Given the description of an element on the screen output the (x, y) to click on. 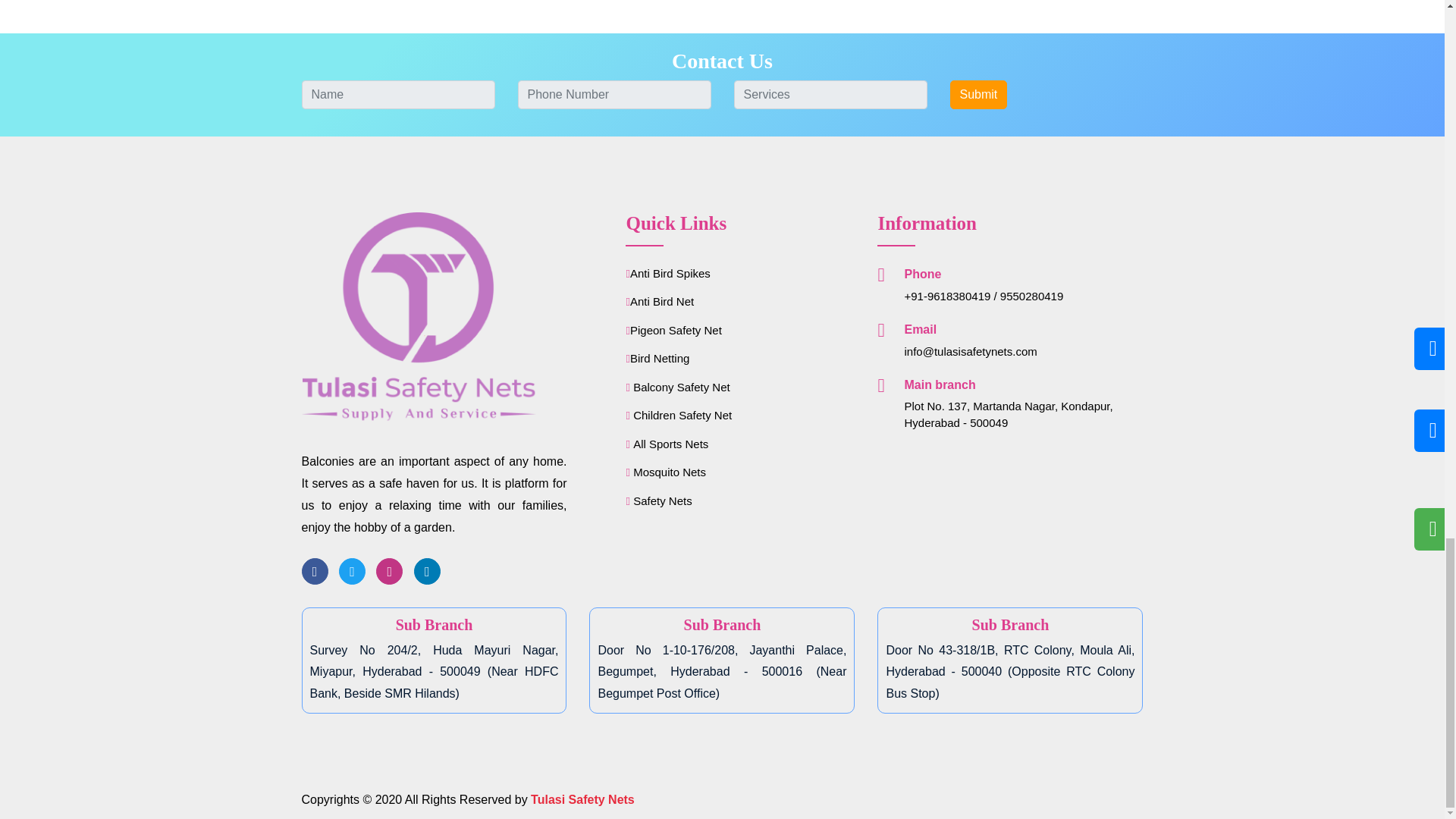
Submit (978, 94)
